Given the description of an element on the screen output the (x, y) to click on. 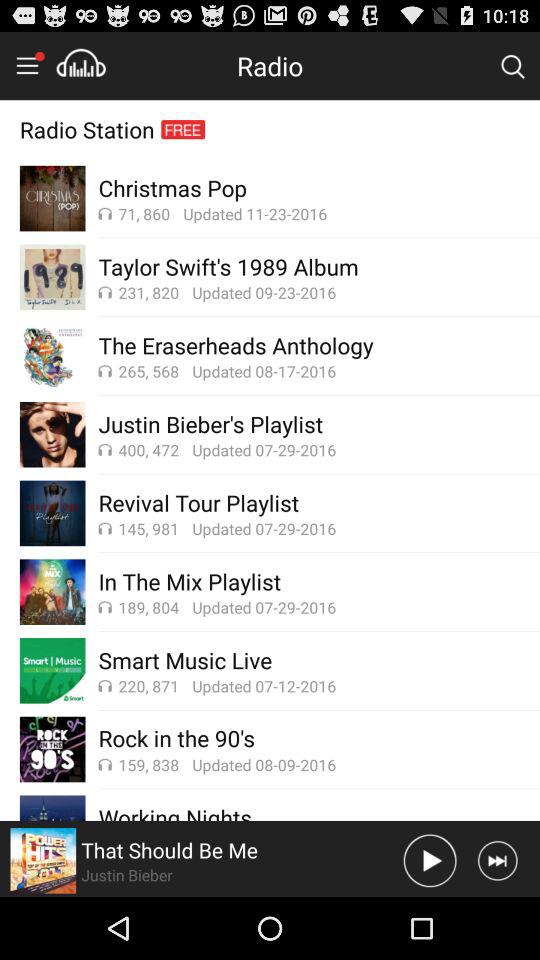
search option (512, 65)
